Given the description of an element on the screen output the (x, y) to click on. 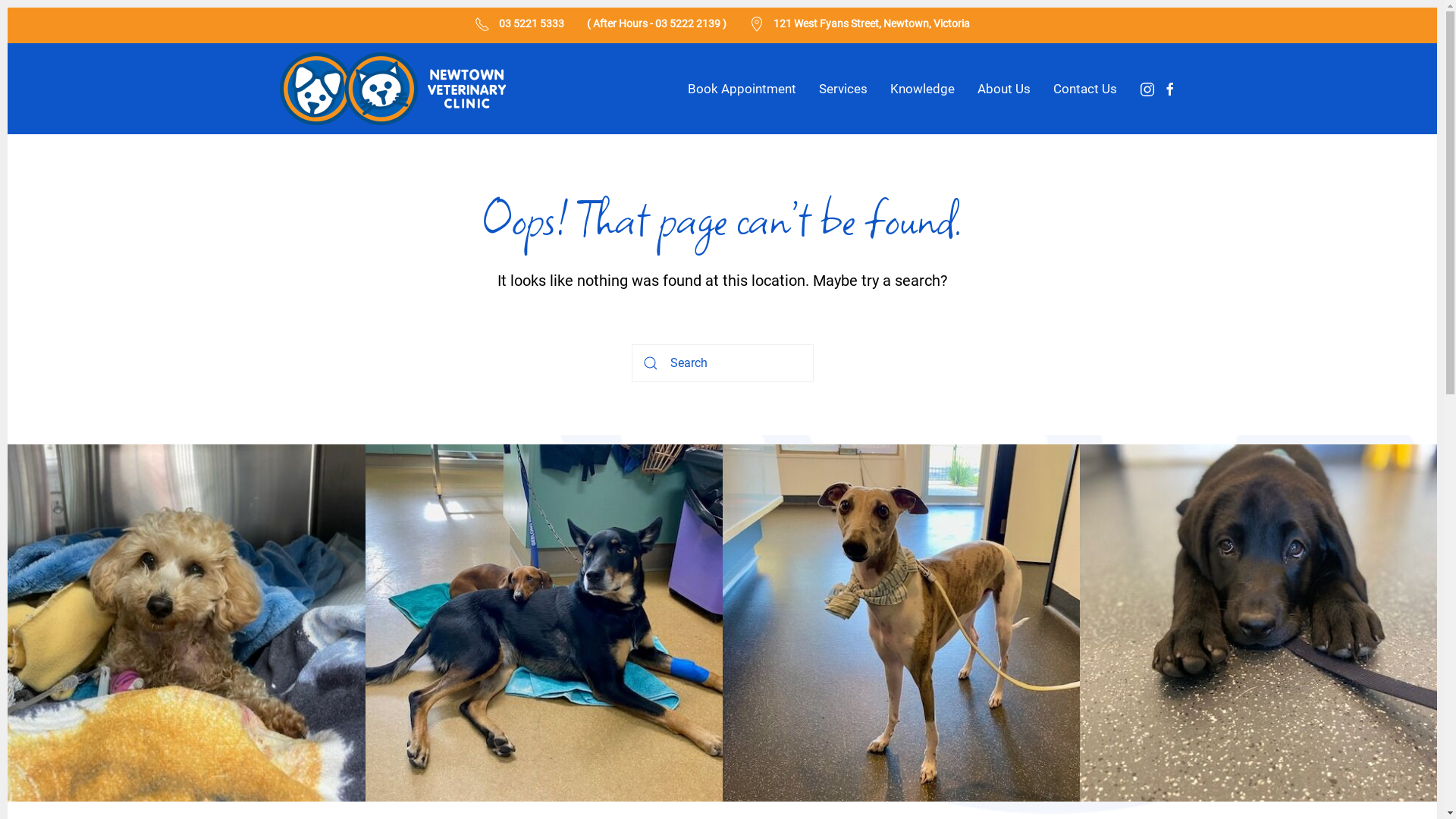
Services Element type: text (843, 88)
Book Appointment Element type: text (741, 88)
121 West Fyans Street, Newtown, Victoria Element type: text (871, 23)
Knowledge Element type: text (922, 88)
( After Hours - 03 5222 2139 ) Element type: text (656, 23)
Contact Us Element type: text (1084, 88)
03 5221 5333 Element type: text (531, 23)
About Us Element type: text (1002, 88)
